Given the description of an element on the screen output the (x, y) to click on. 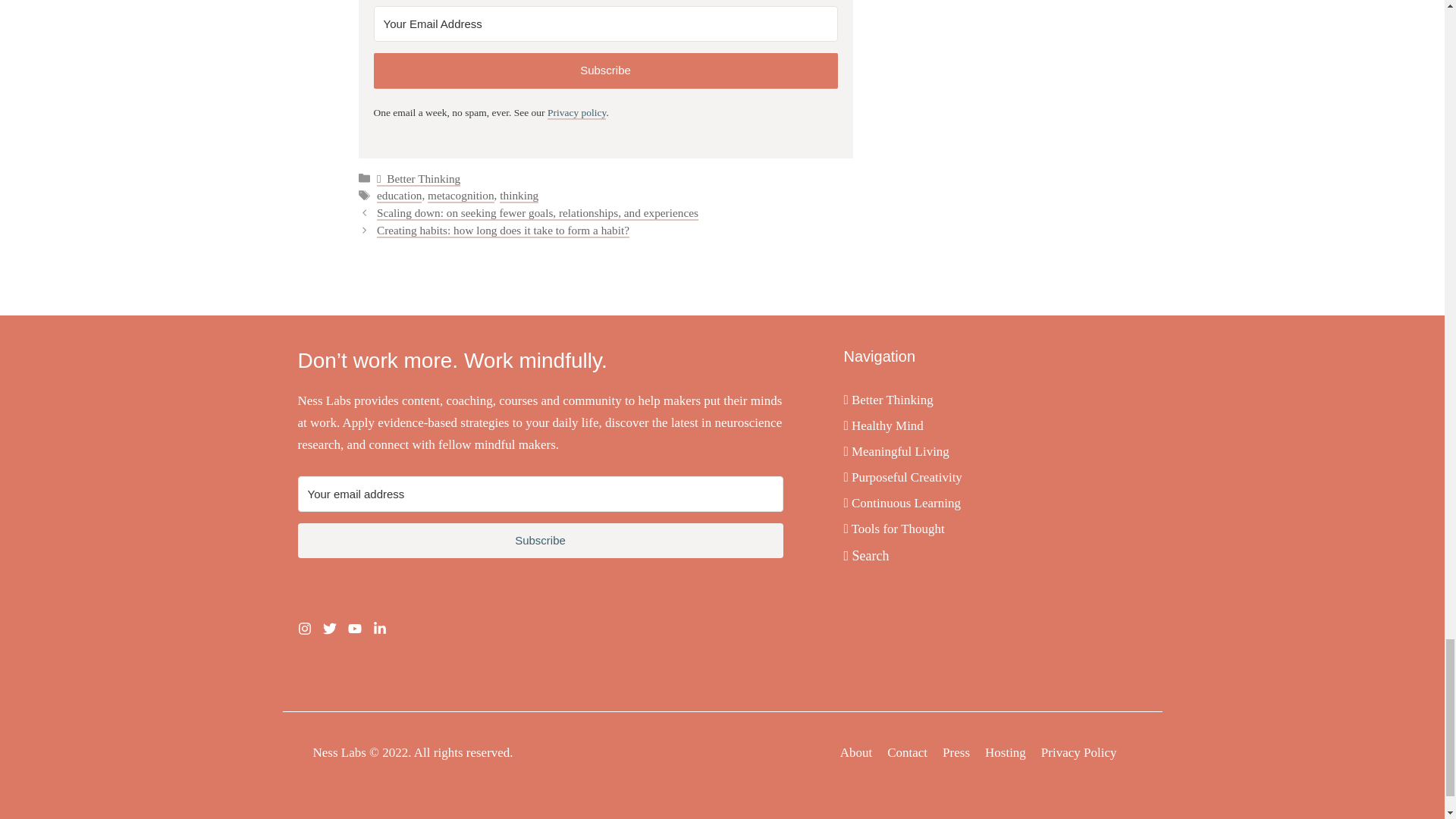
Subscribe (540, 540)
education (399, 196)
metacognition (461, 196)
Privacy policy (576, 113)
Creating habits: how long does it take to form a habit? (502, 230)
thinking (518, 196)
Subscribe (604, 70)
